Given the description of an element on the screen output the (x, y) to click on. 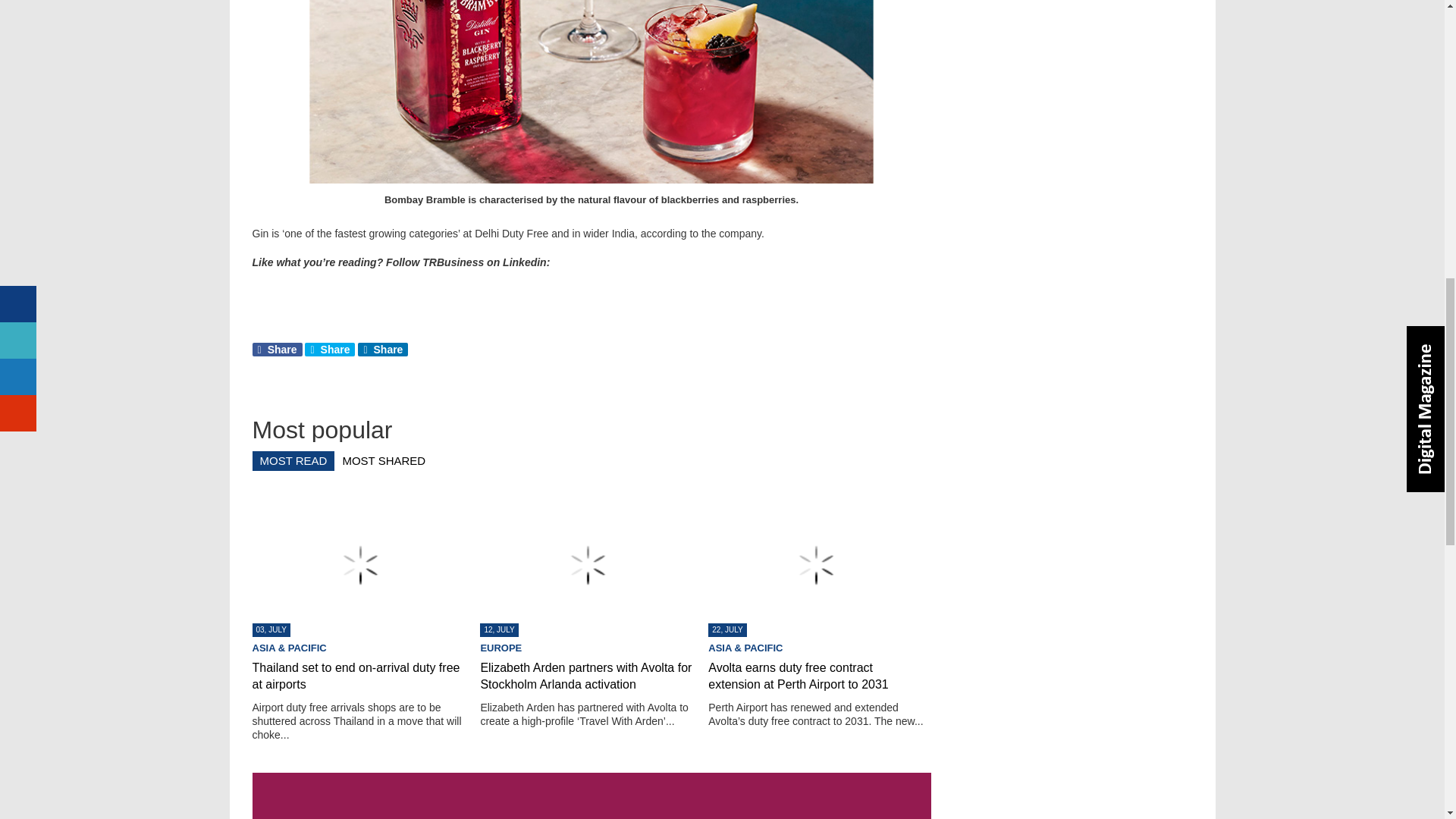
Share on Facebook (276, 349)
